Given the description of an element on the screen output the (x, y) to click on. 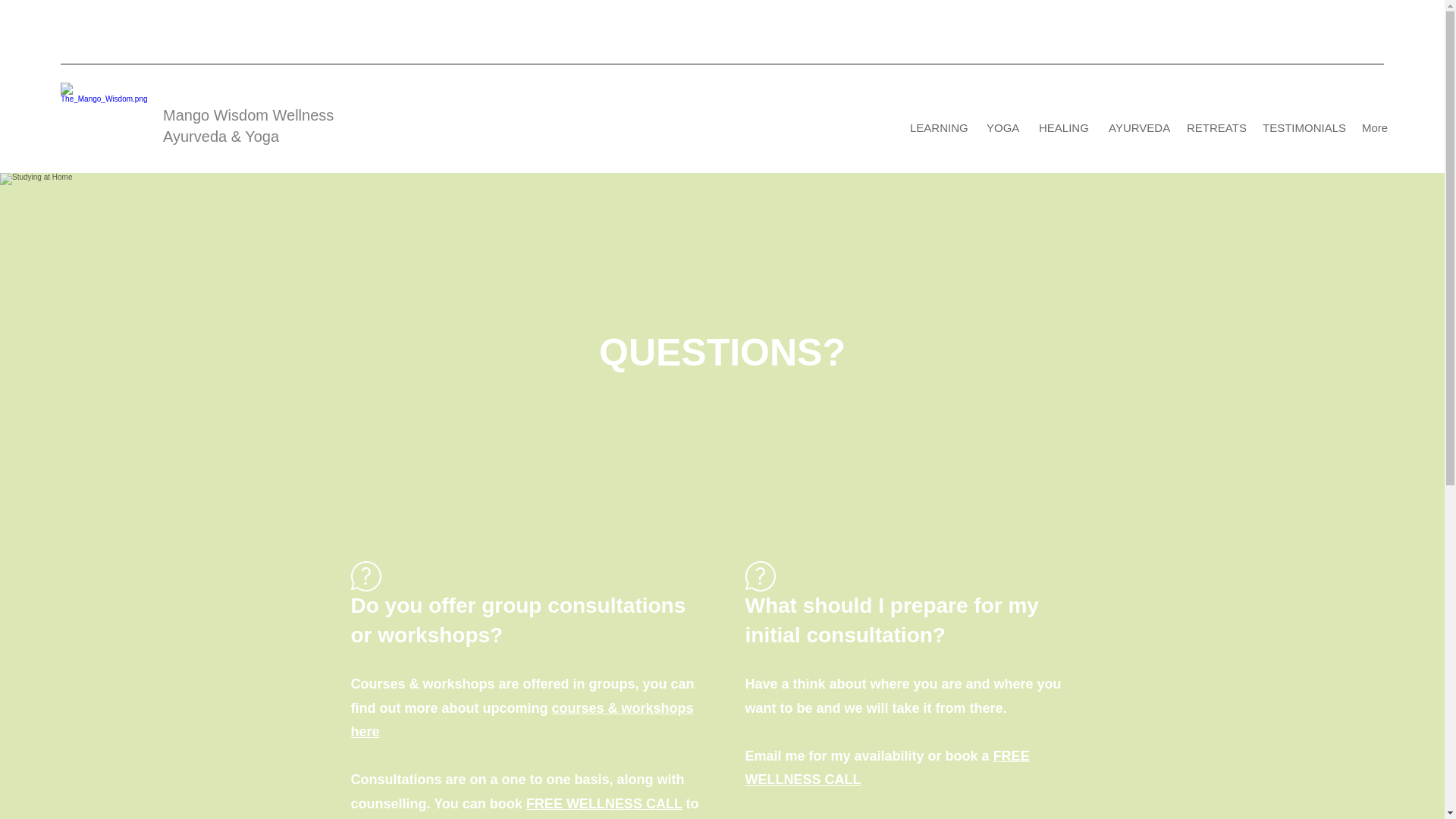
AYURVEDA (1135, 128)
YOGA (1000, 128)
LEARNING (936, 128)
TESTIMONIALS (1299, 128)
RETREATS (1212, 128)
FREE WELLNESS CALL (603, 803)
Mango Wisdom Wellness  (250, 115)
FREE WELLNESS CALL (886, 767)
HEALING (1061, 128)
